Given the description of an element on the screen output the (x, y) to click on. 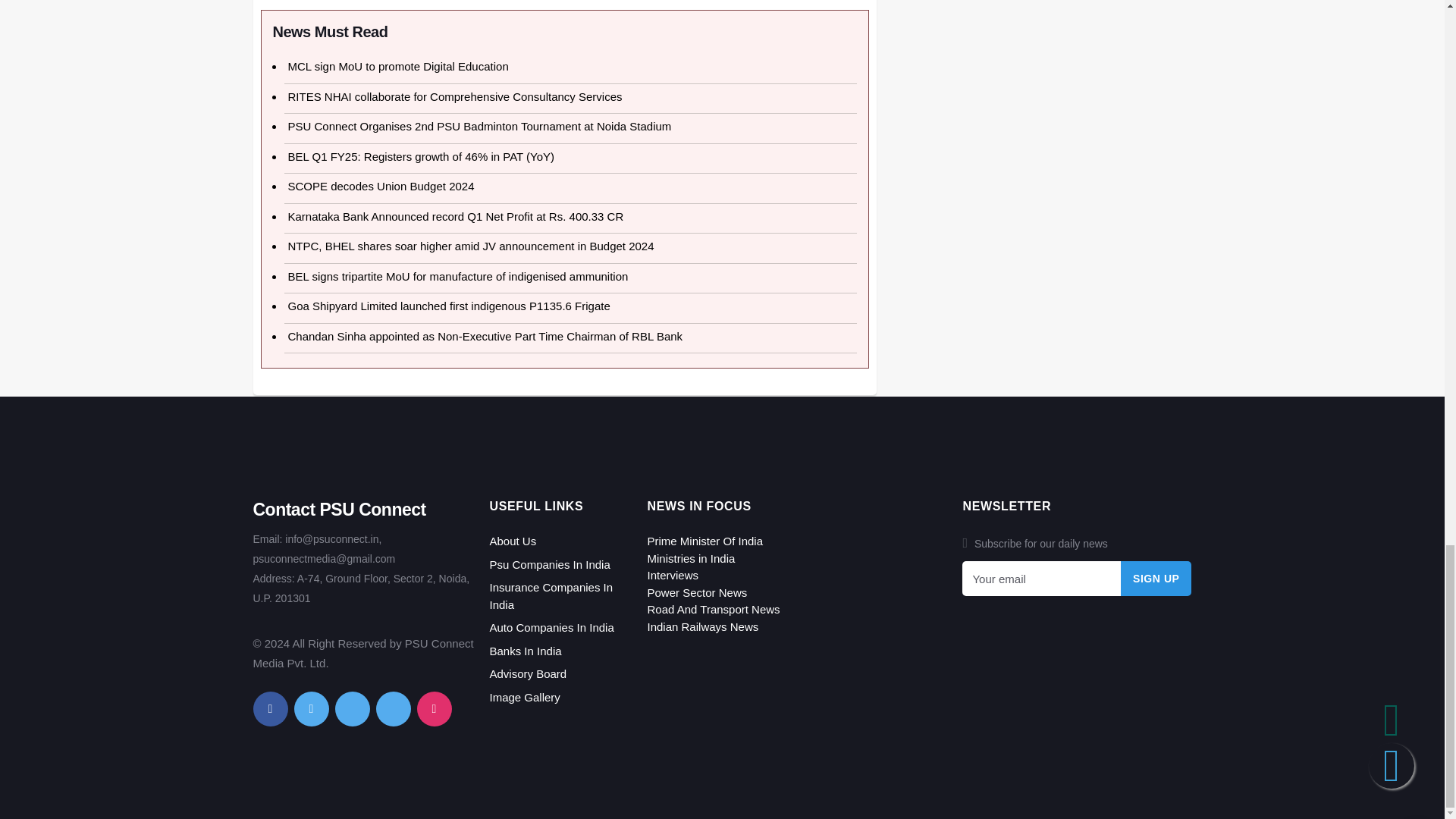
Sign Up (1156, 578)
MCL sign MoU to promote Digital Education (398, 65)
SCOPE decodes Union Budget 2024 (381, 185)
